Given the description of an element on the screen output the (x, y) to click on. 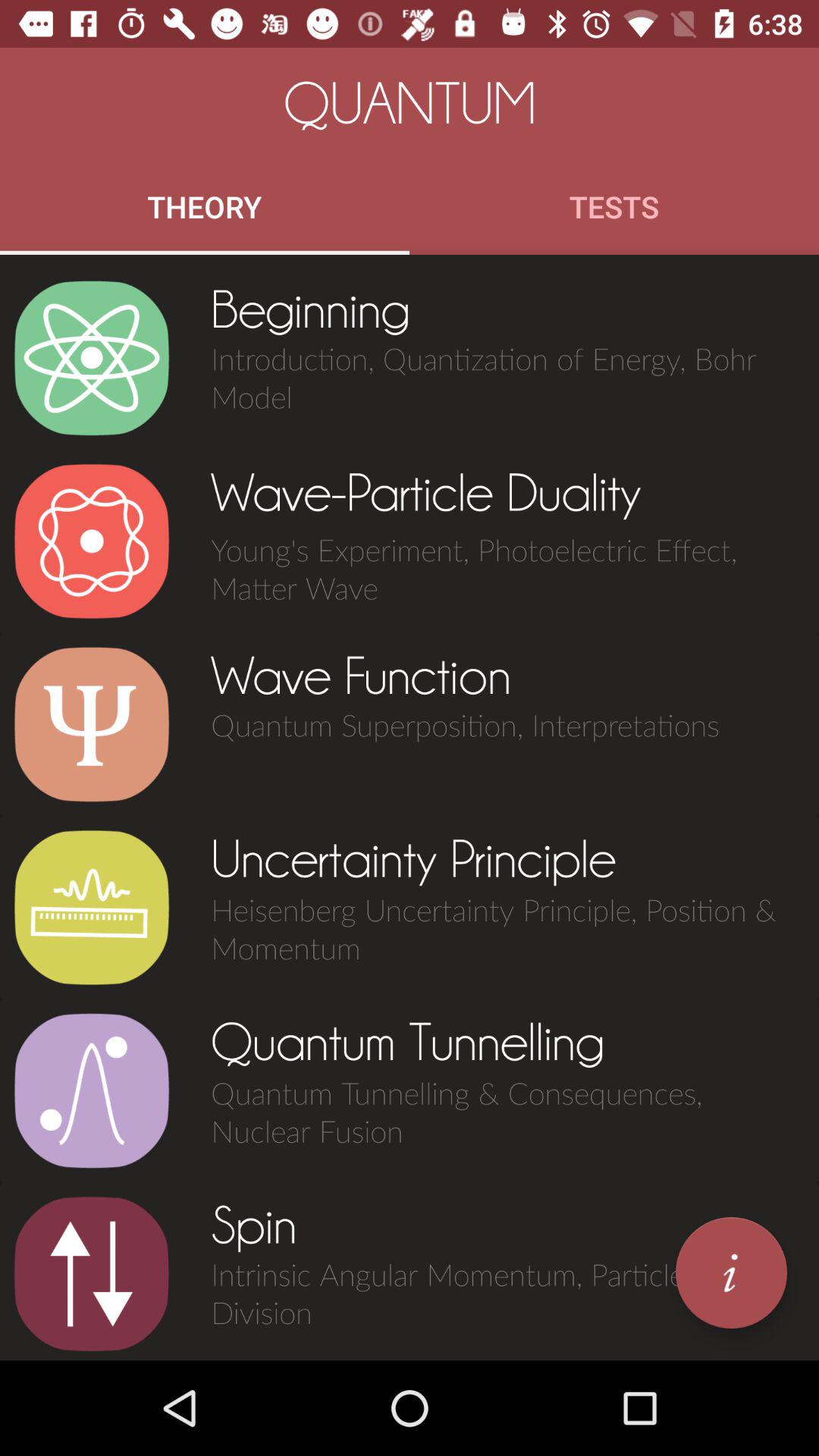
for more infringement (731, 1272)
